Given the description of an element on the screen output the (x, y) to click on. 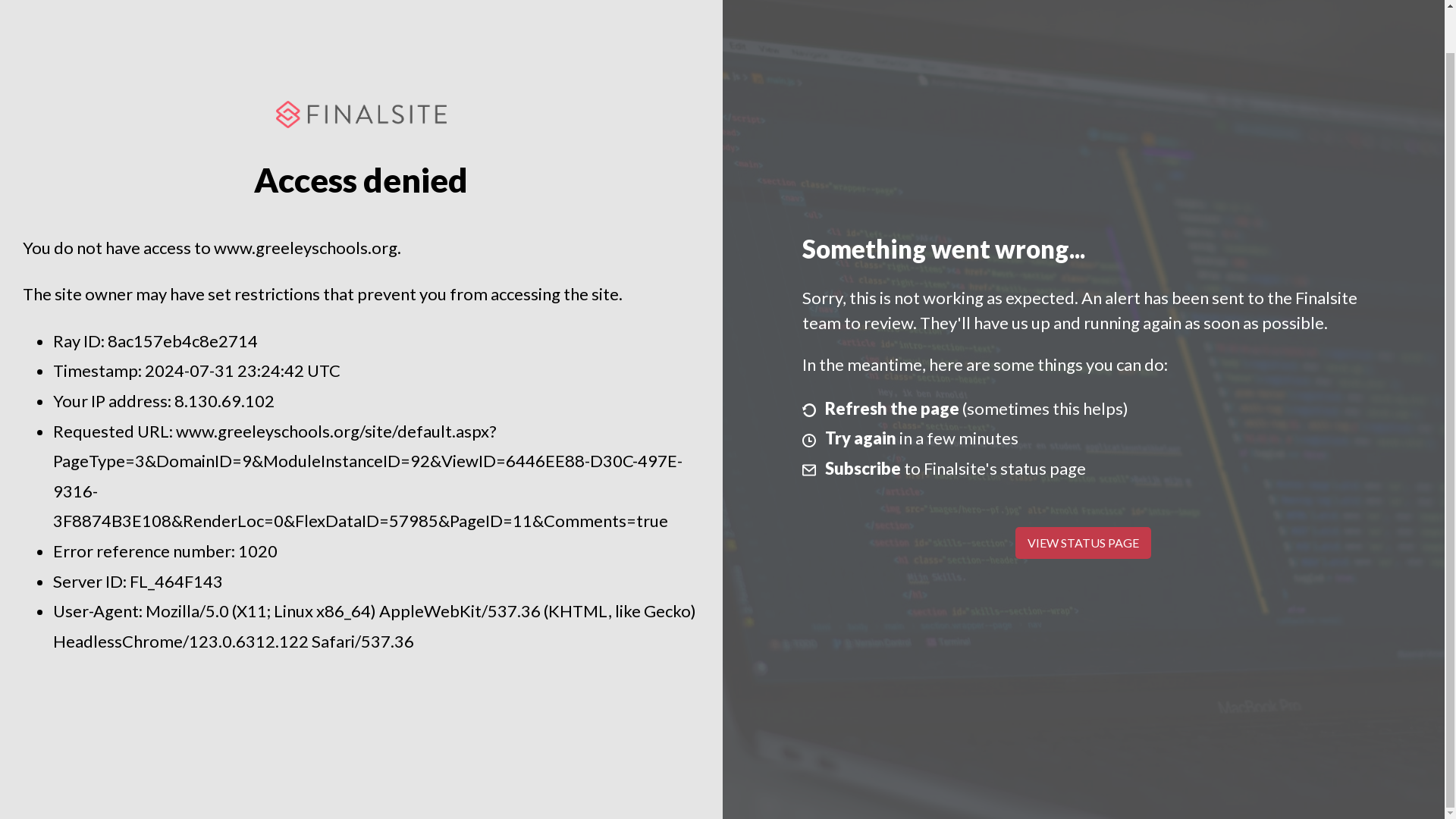
VIEW STATUS PAGE (1082, 542)
